Given the description of an element on the screen output the (x, y) to click on. 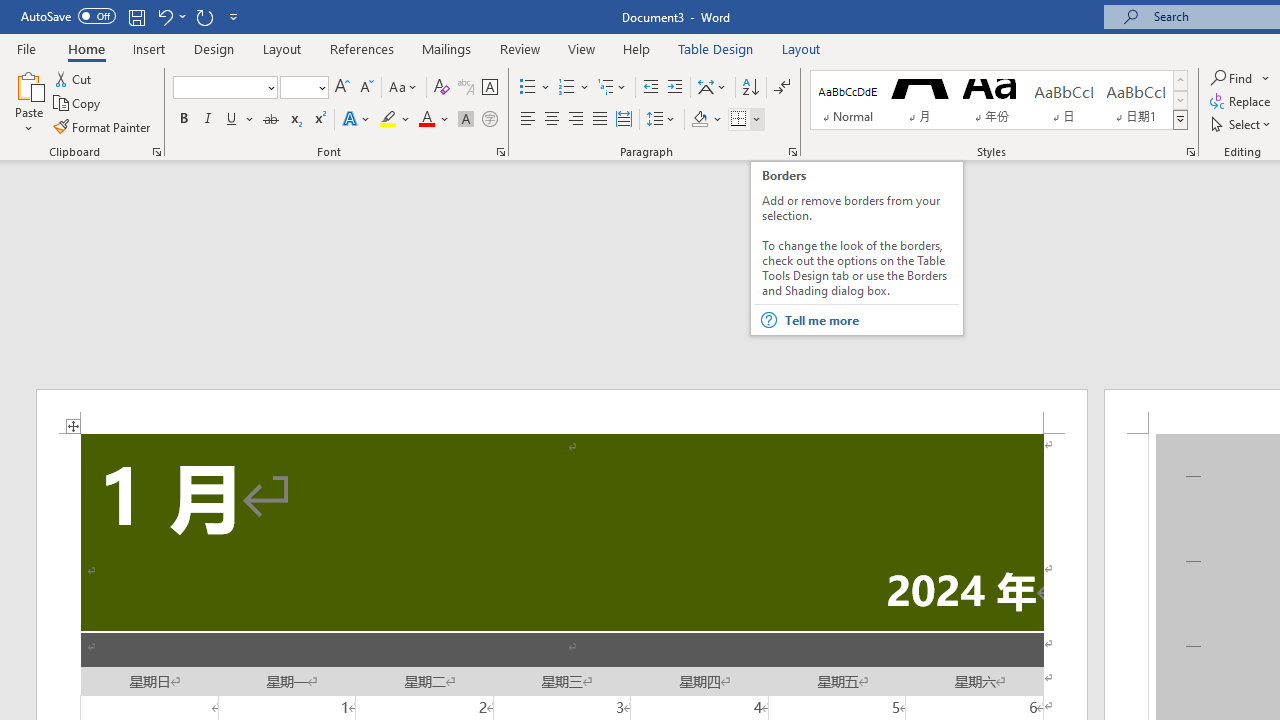
AutomationID: QuickStylesGallery (999, 99)
Text Effects and Typography (357, 119)
Shading RGB(0, 0, 0) (699, 119)
Styles (1179, 120)
Copy (78, 103)
Increase Indent (675, 87)
